Given the description of an element on the screen output the (x, y) to click on. 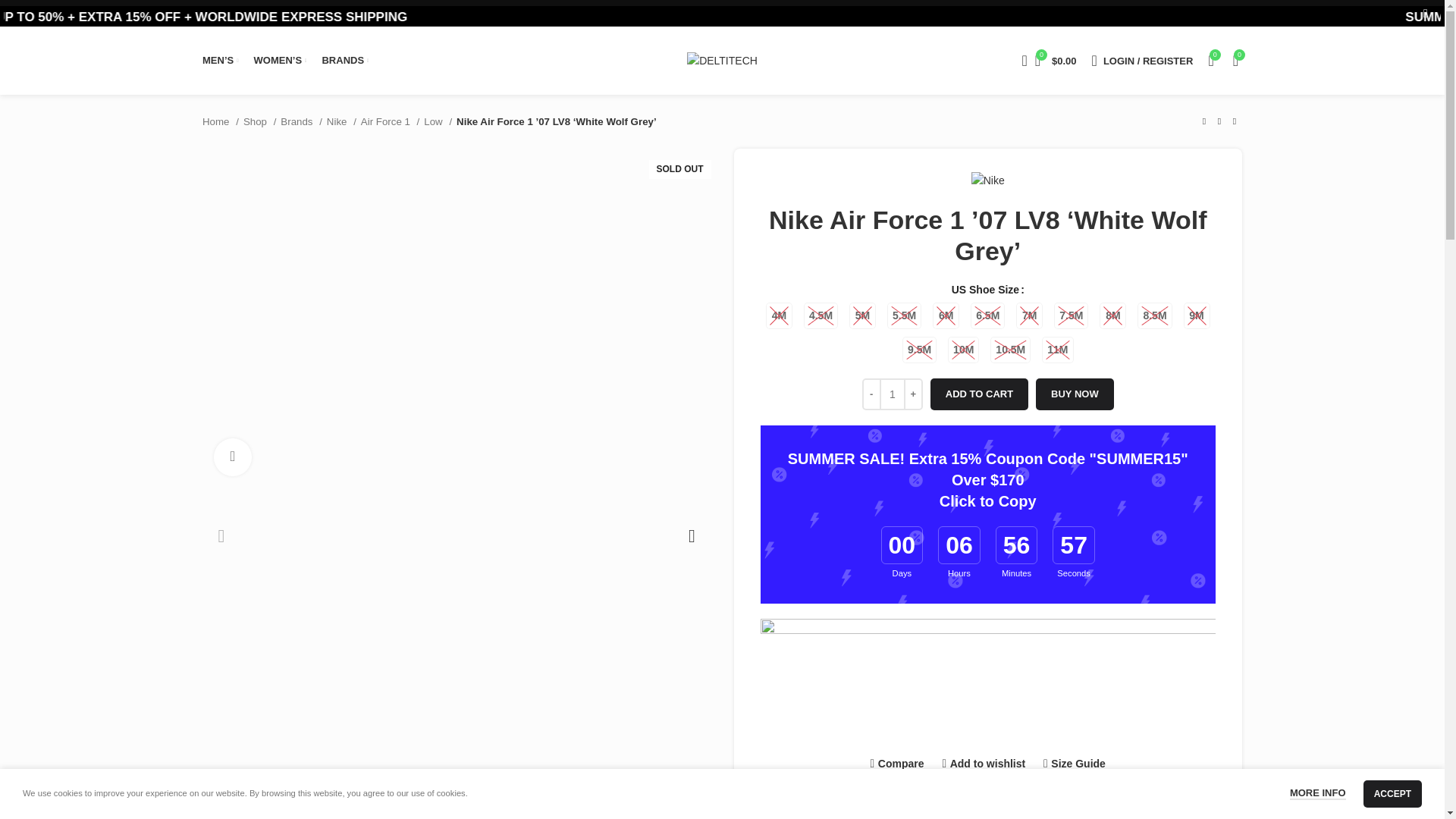
BRANDS (344, 60)
